Given the description of an element on the screen output the (x, y) to click on. 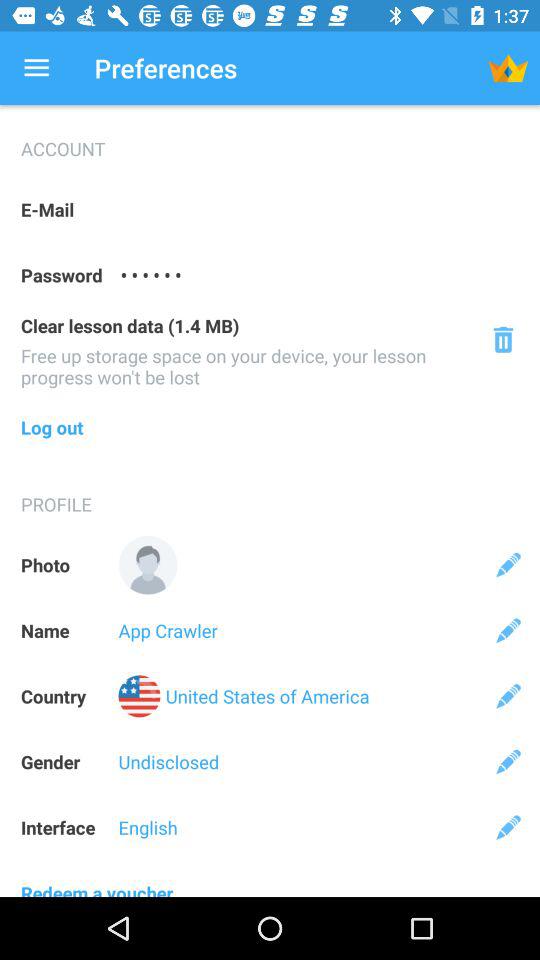
launch the icon to the right of the english icon (508, 827)
